Given the description of an element on the screen output the (x, y) to click on. 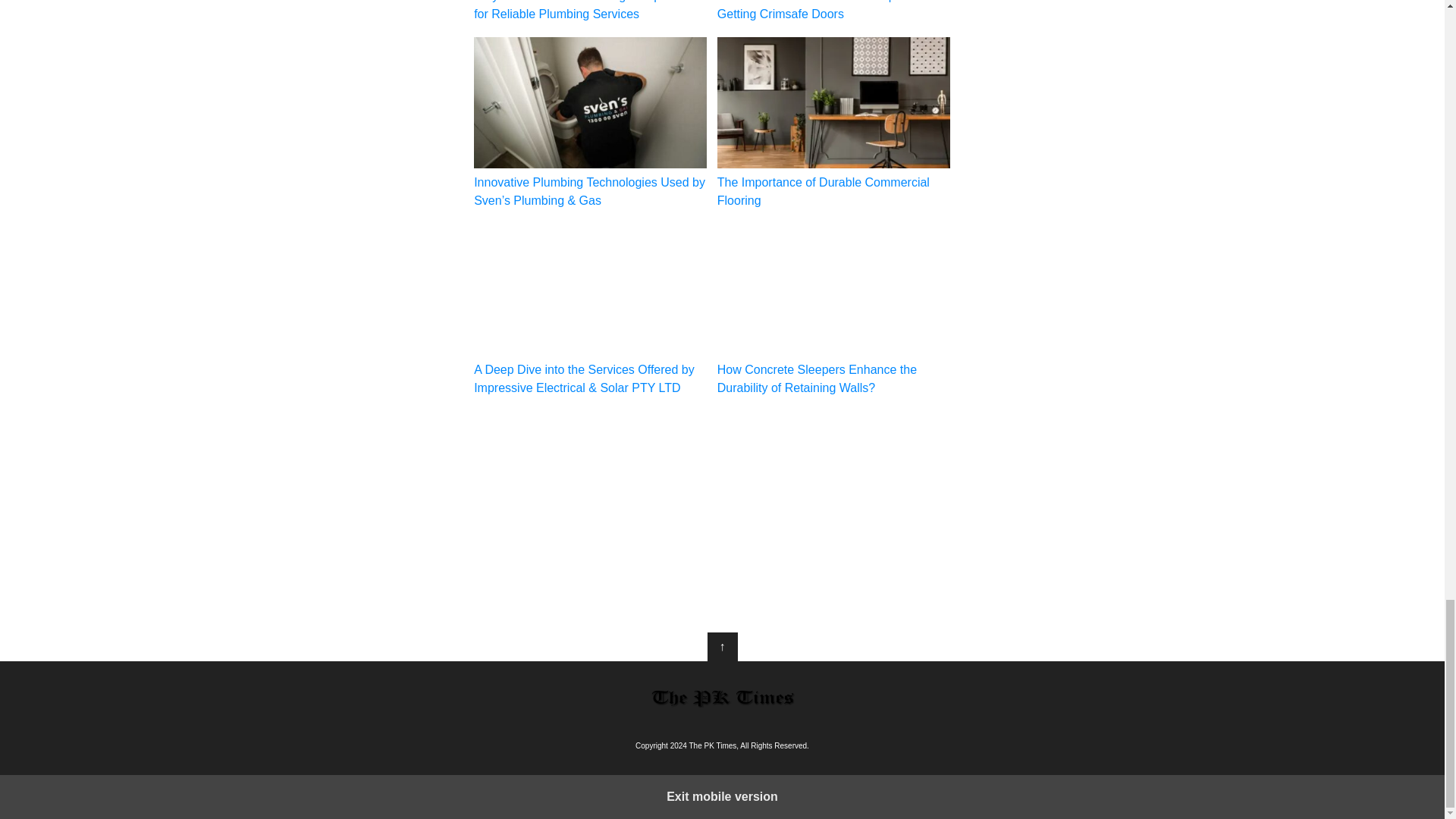
The PK Times (721, 698)
The Importance of Durable Commercial Flooring (833, 122)
